Given the description of an element on the screen output the (x, y) to click on. 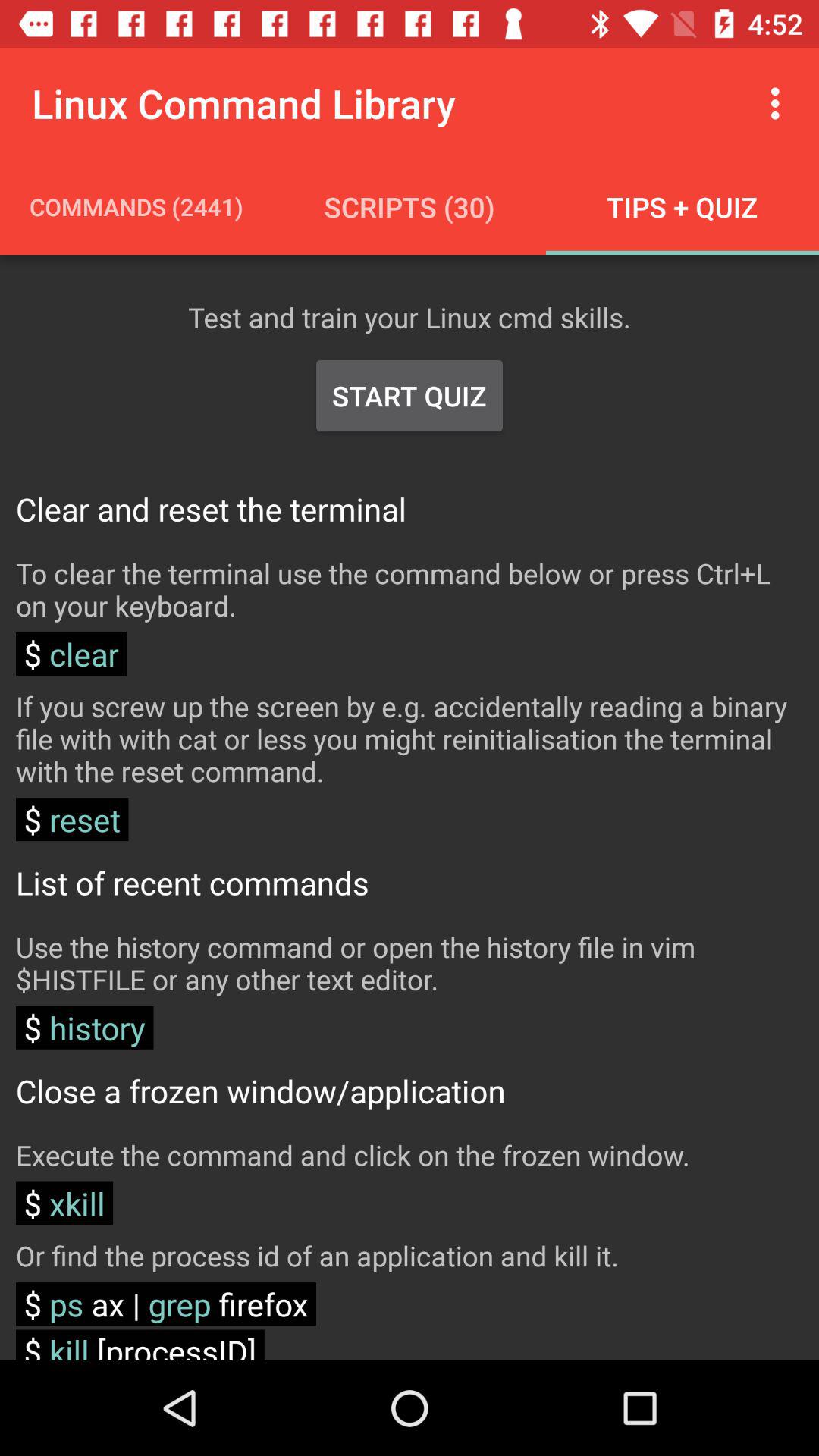
jump until the start quiz (409, 395)
